Given the description of an element on the screen output the (x, y) to click on. 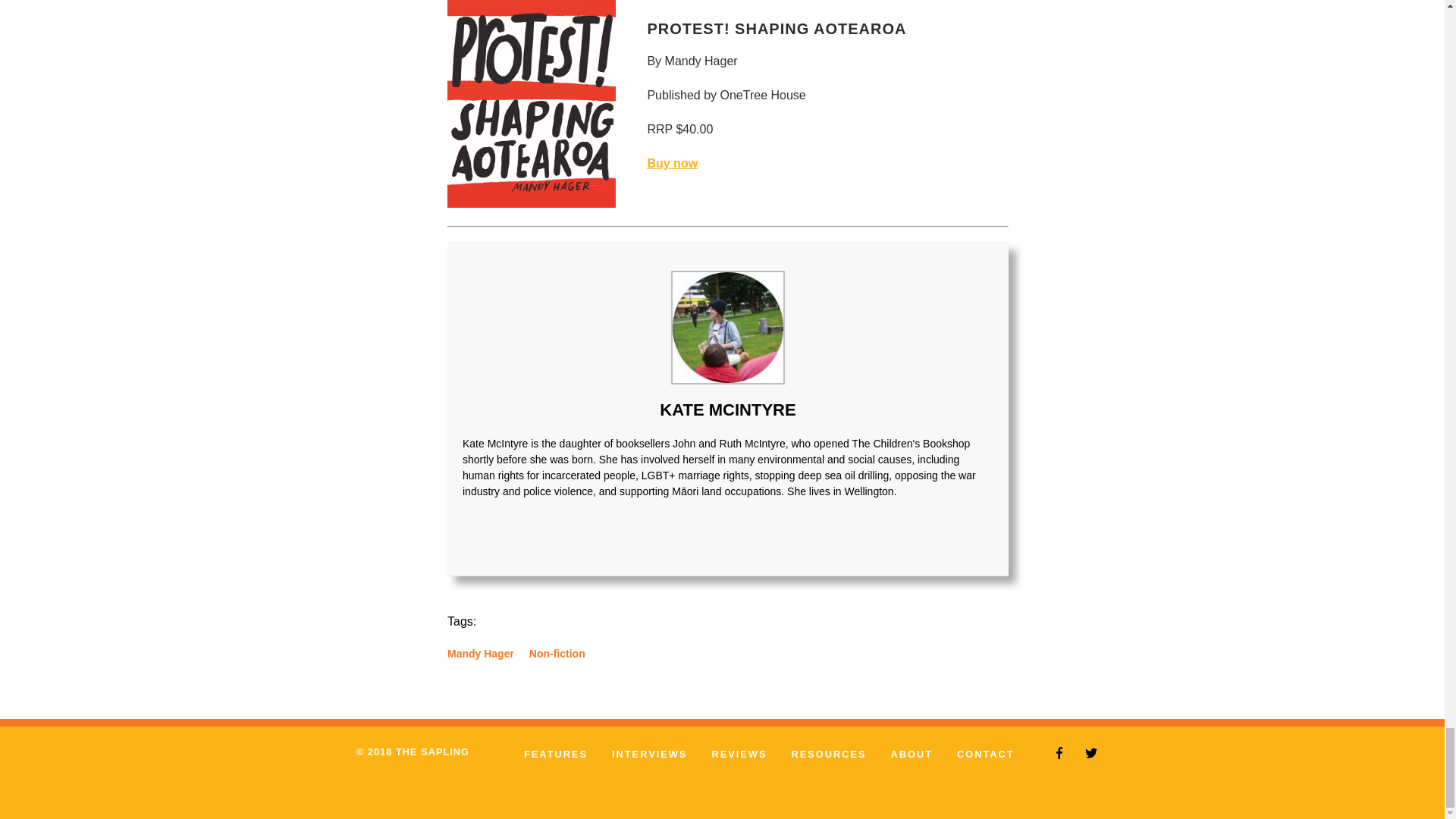
ABOUT (911, 754)
REVIEWS (739, 754)
FEATURES (556, 754)
INTERVIEWS (649, 754)
RESOURCES (828, 754)
Buy now (671, 163)
Mandy Hager (479, 653)
CONTACT (985, 754)
Non-fiction (557, 653)
